Given the description of an element on the screen output the (x, y) to click on. 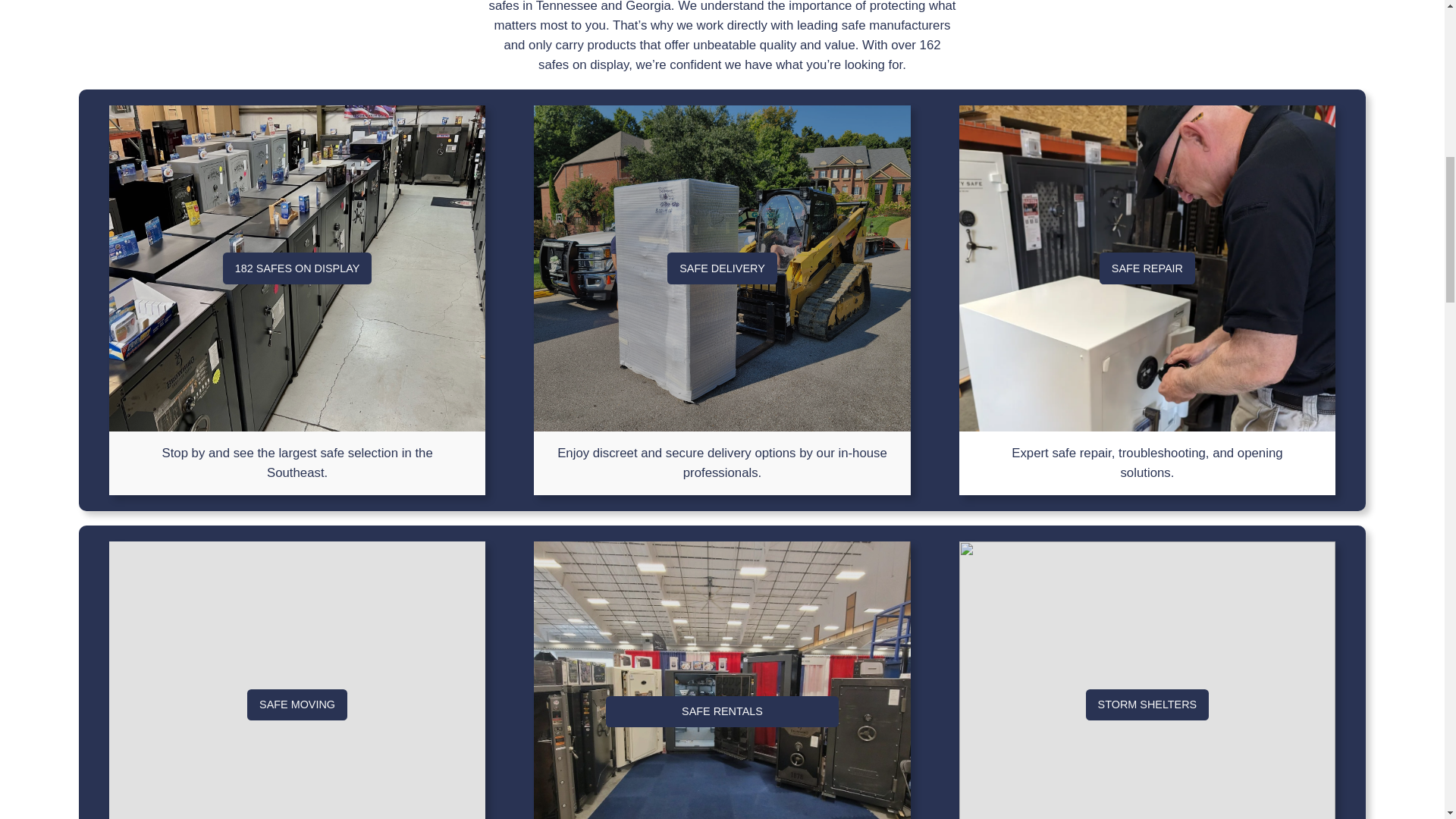
SAFE DELIVERY (721, 268)
182 SAFES ON DISPLAY (297, 268)
STORM SHELTERS (1147, 705)
SAFE RENTALS (722, 712)
SAFE MOVING (297, 705)
SAFE REPAIR (1147, 268)
